Given the description of an element on the screen output the (x, y) to click on. 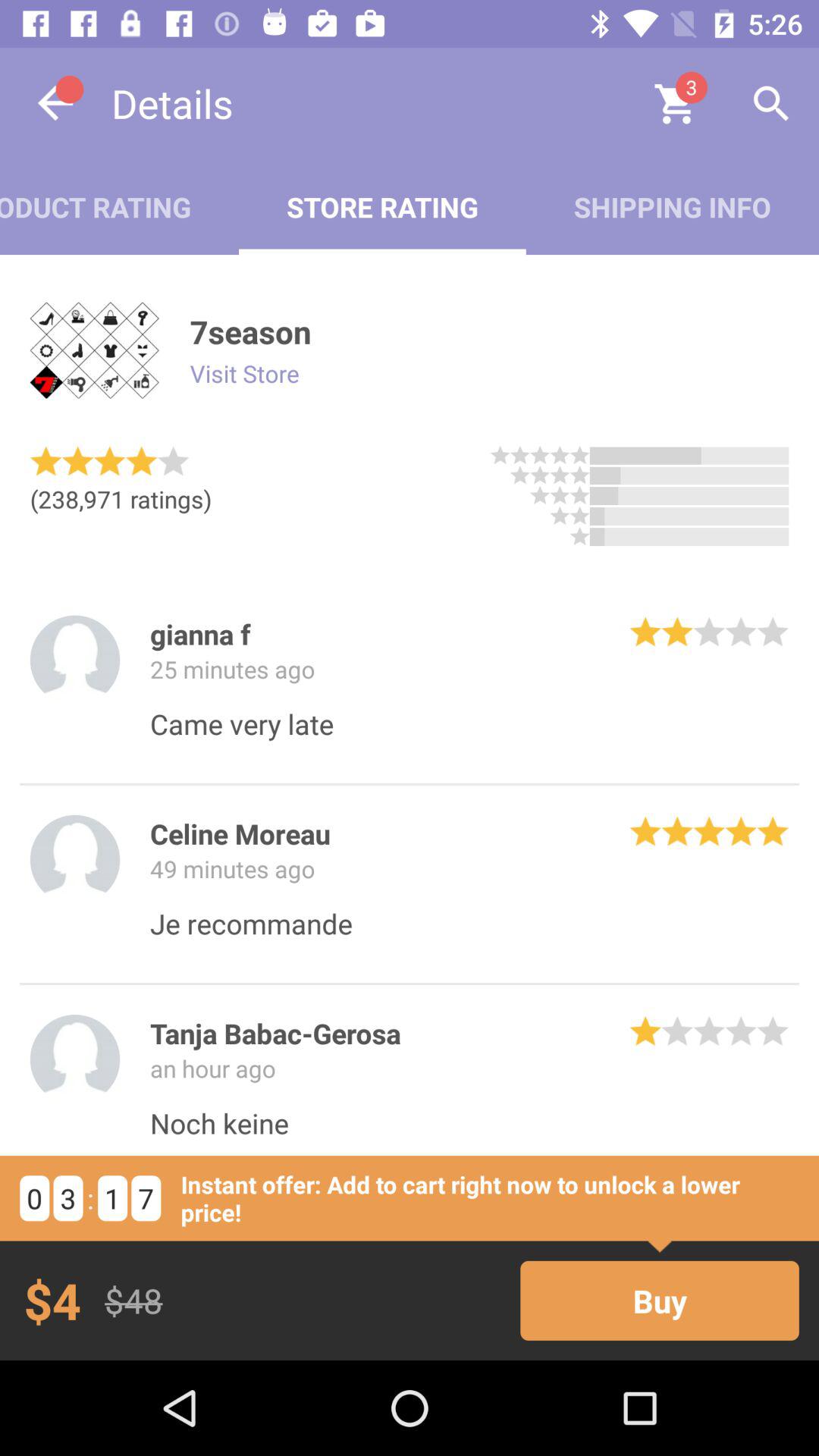
press buy item (659, 1300)
